Given the description of an element on the screen output the (x, y) to click on. 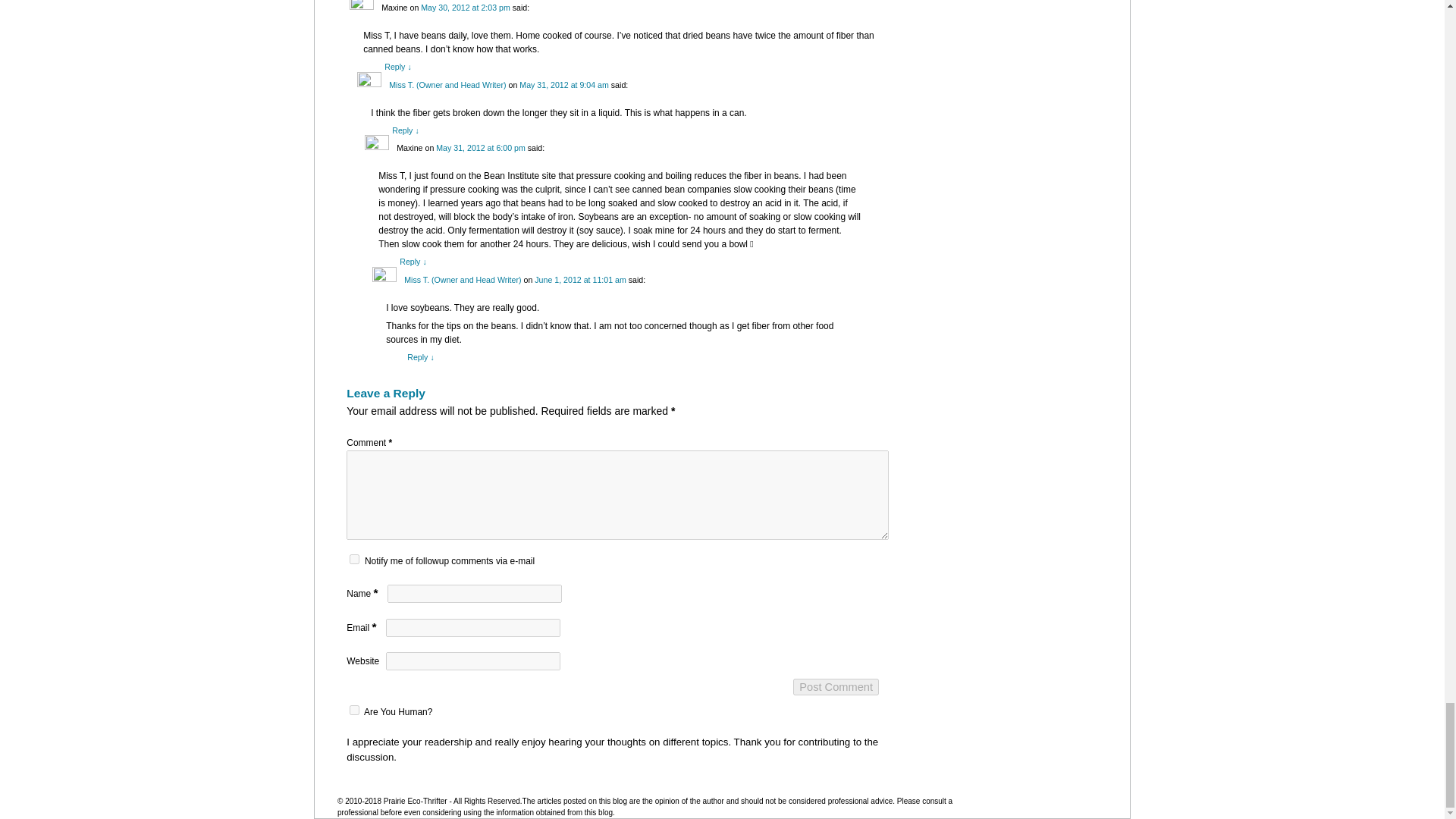
subscribe (354, 559)
Post Comment (836, 686)
on (354, 709)
